Given the description of an element on the screen output the (x, y) to click on. 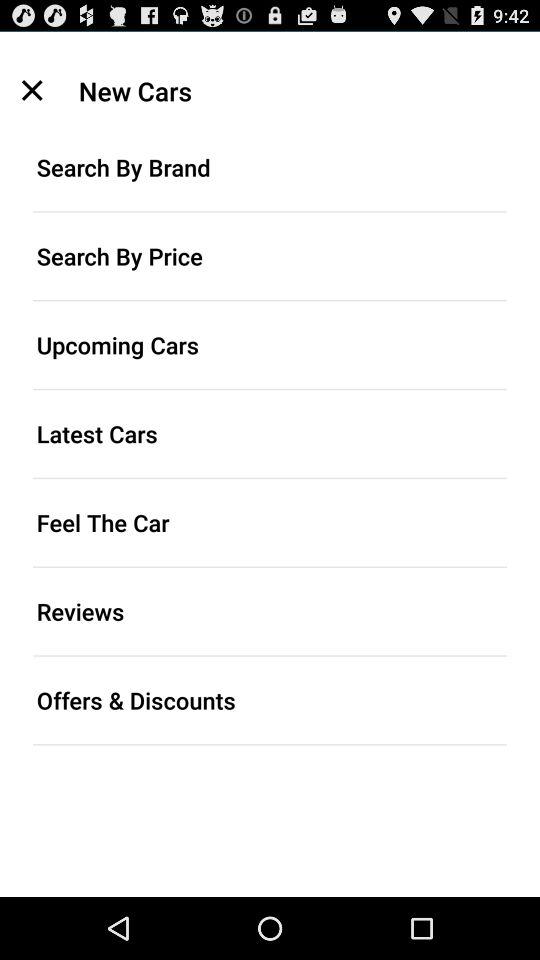
jump until feel the car (270, 522)
